Given the description of an element on the screen output the (x, y) to click on. 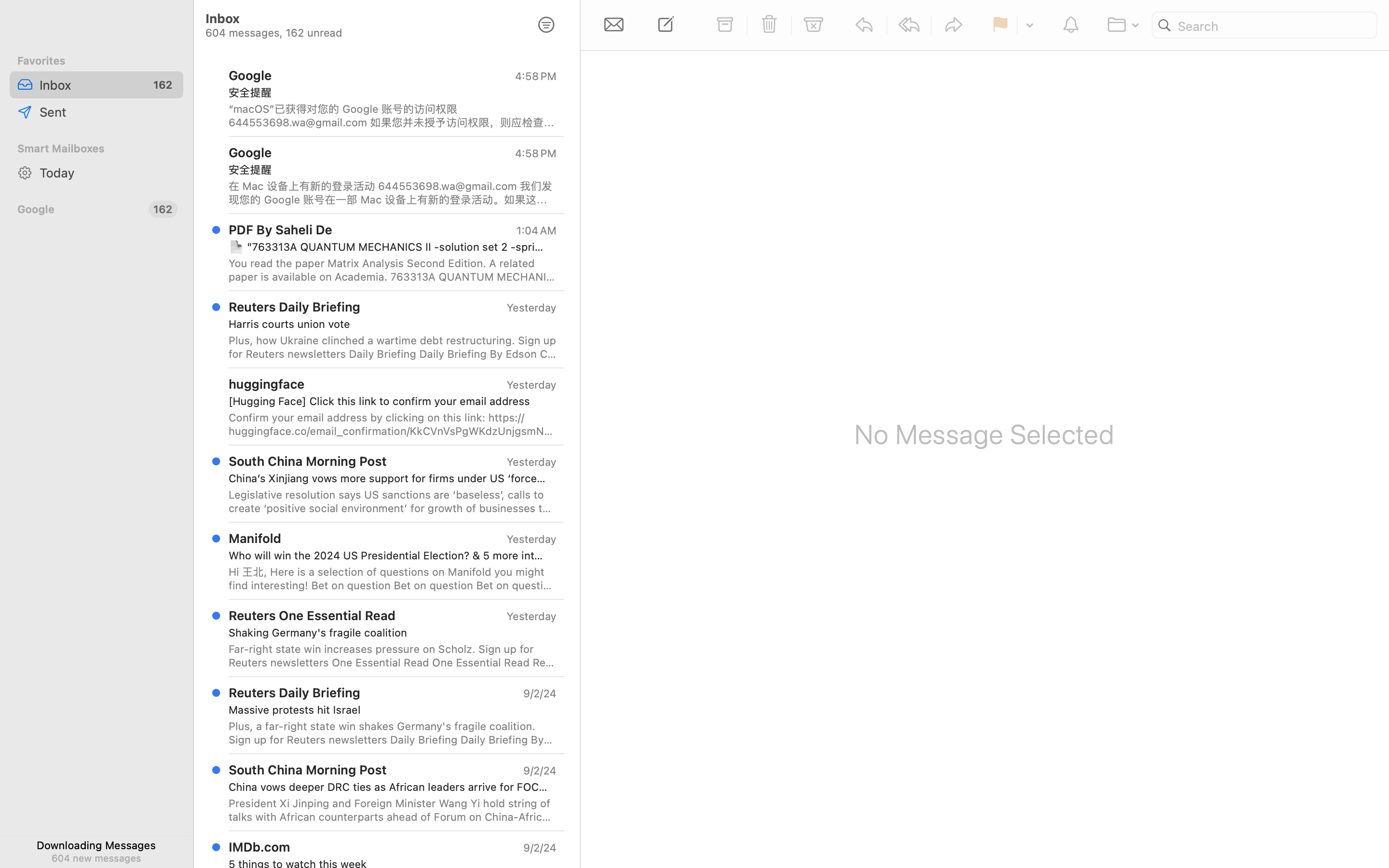
Yesterday Element type: AXStaticText (531, 538)
Manifold Element type: AXStaticText (254, 537)
Sent Element type: AXStaticText (107, 111)
China’s Xinjiang vows more support for firms under US ‘forced labour’ sanctions Element type: AXStaticText (388, 478)
Today Element type: AXTextField (107, 172)
